Given the description of an element on the screen output the (x, y) to click on. 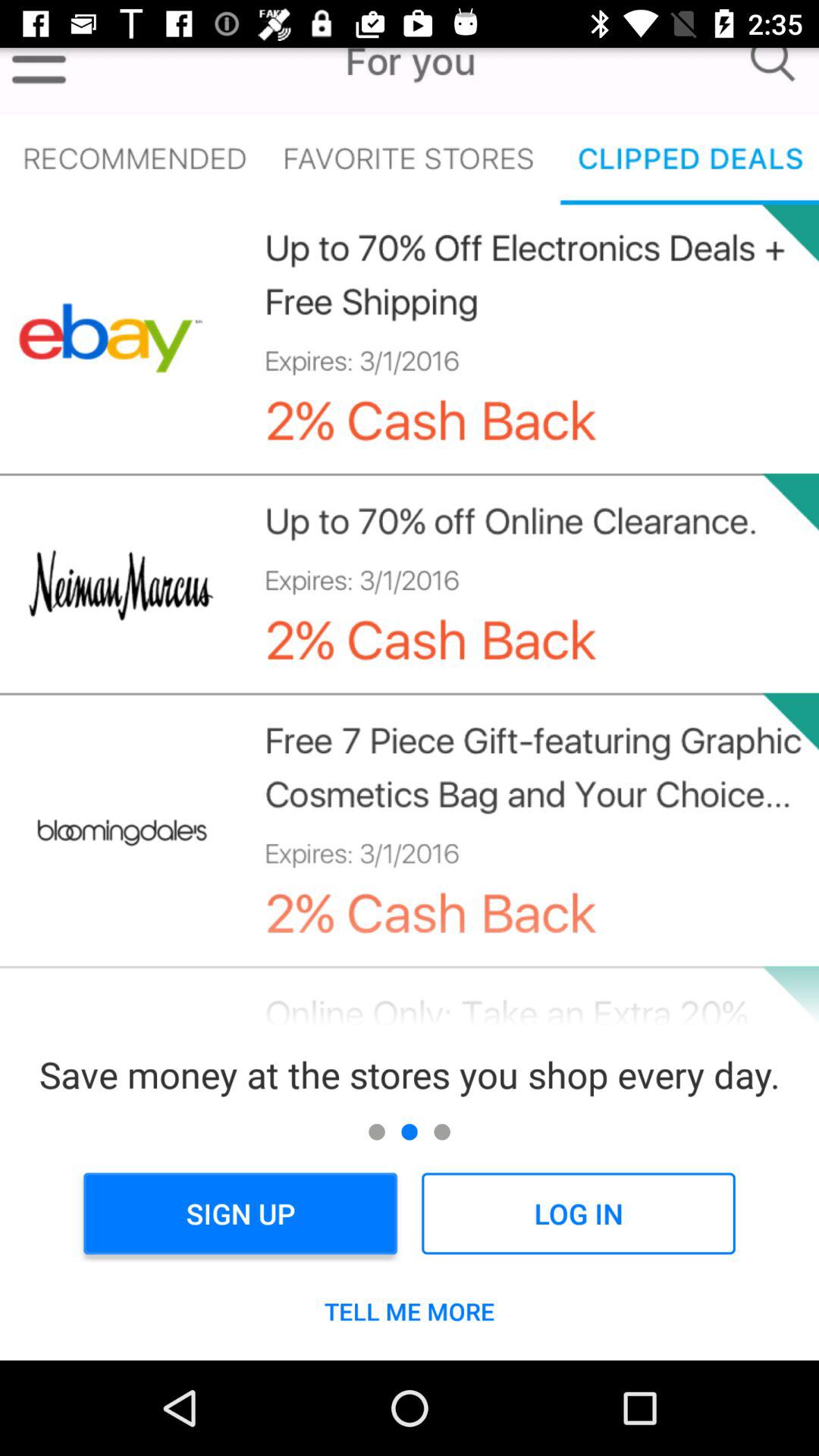
scroll to the log in icon (578, 1213)
